Given the description of an element on the screen output the (x, y) to click on. 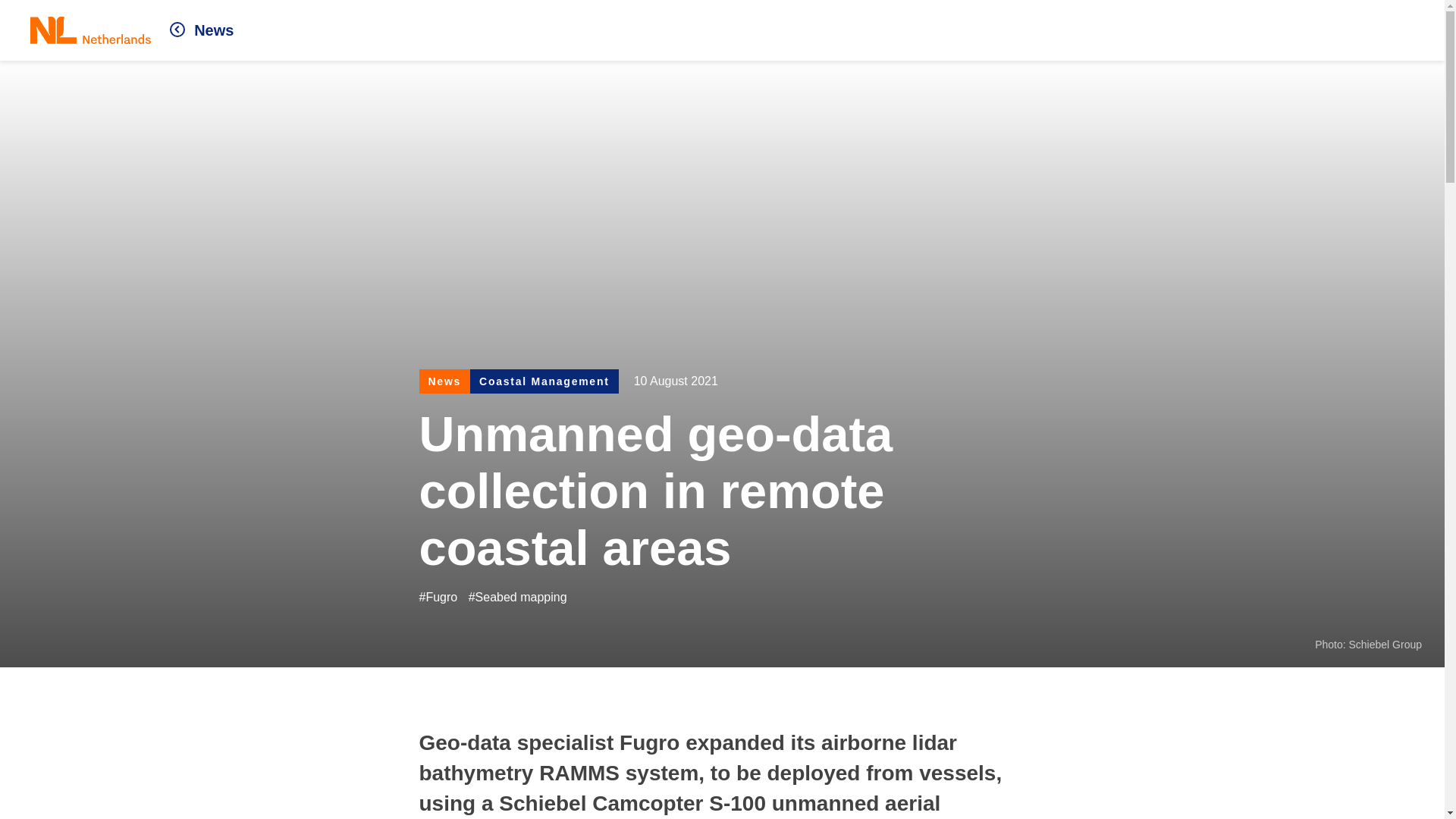
News (201, 30)
Coastal Management (544, 381)
